Given the description of an element on the screen output the (x, y) to click on. 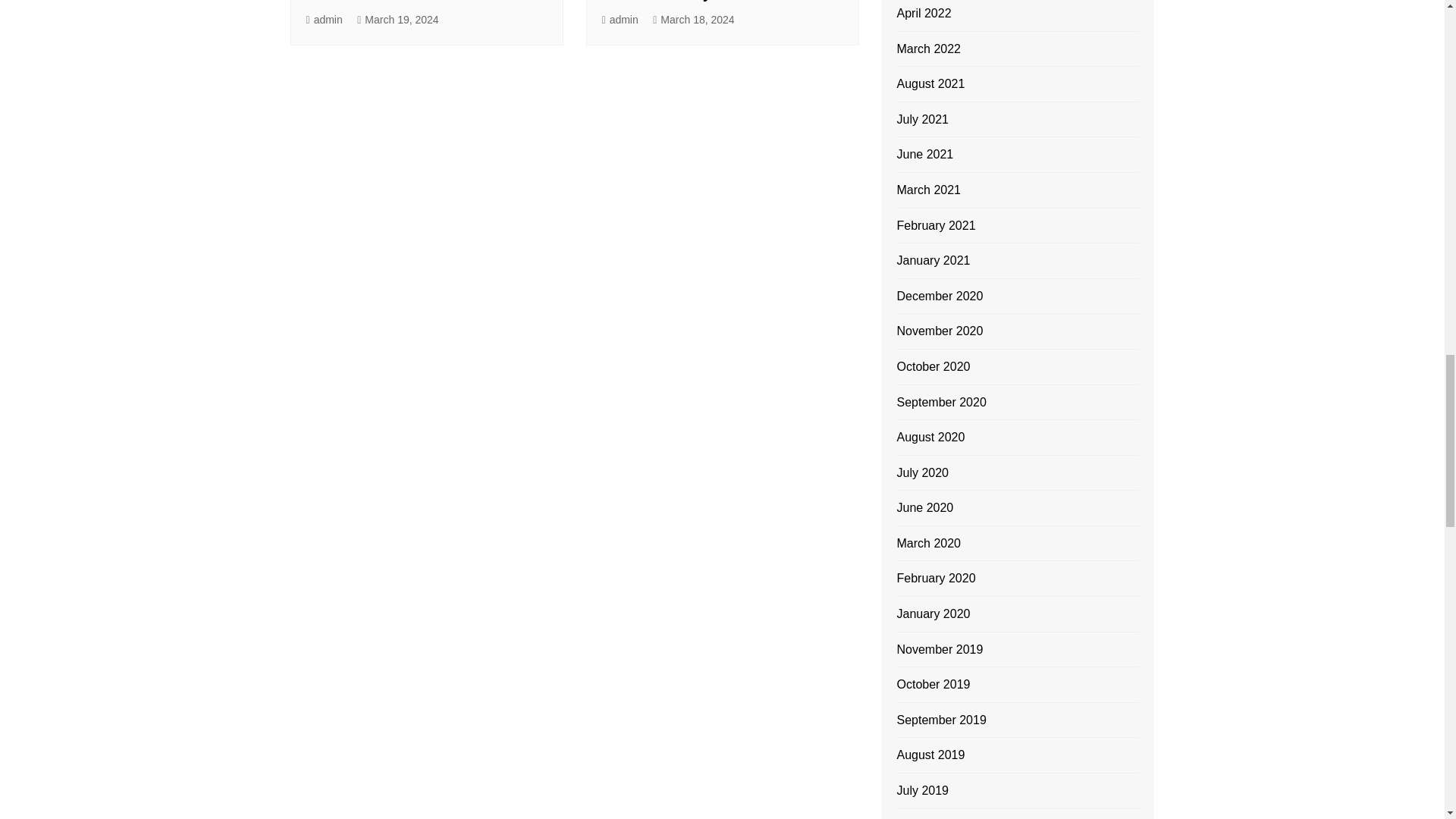
admin (323, 19)
March 19, 2024 (397, 19)
